Given the description of an element on the screen output the (x, y) to click on. 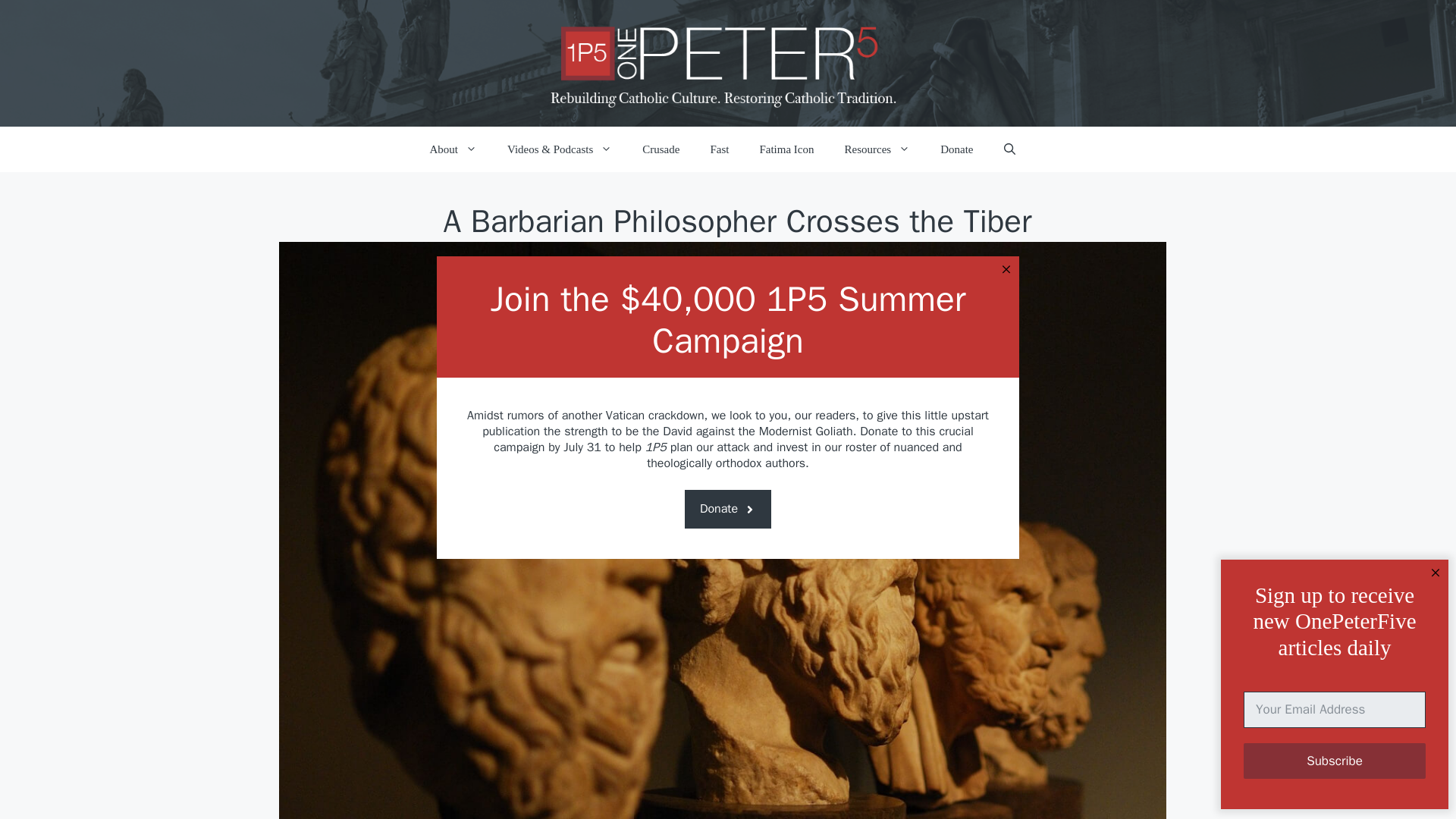
About (452, 148)
Posts by  Johan Eddebo (659, 267)
Posts by  Johan Eddebo (701, 267)
